Given the description of an element on the screen output the (x, y) to click on. 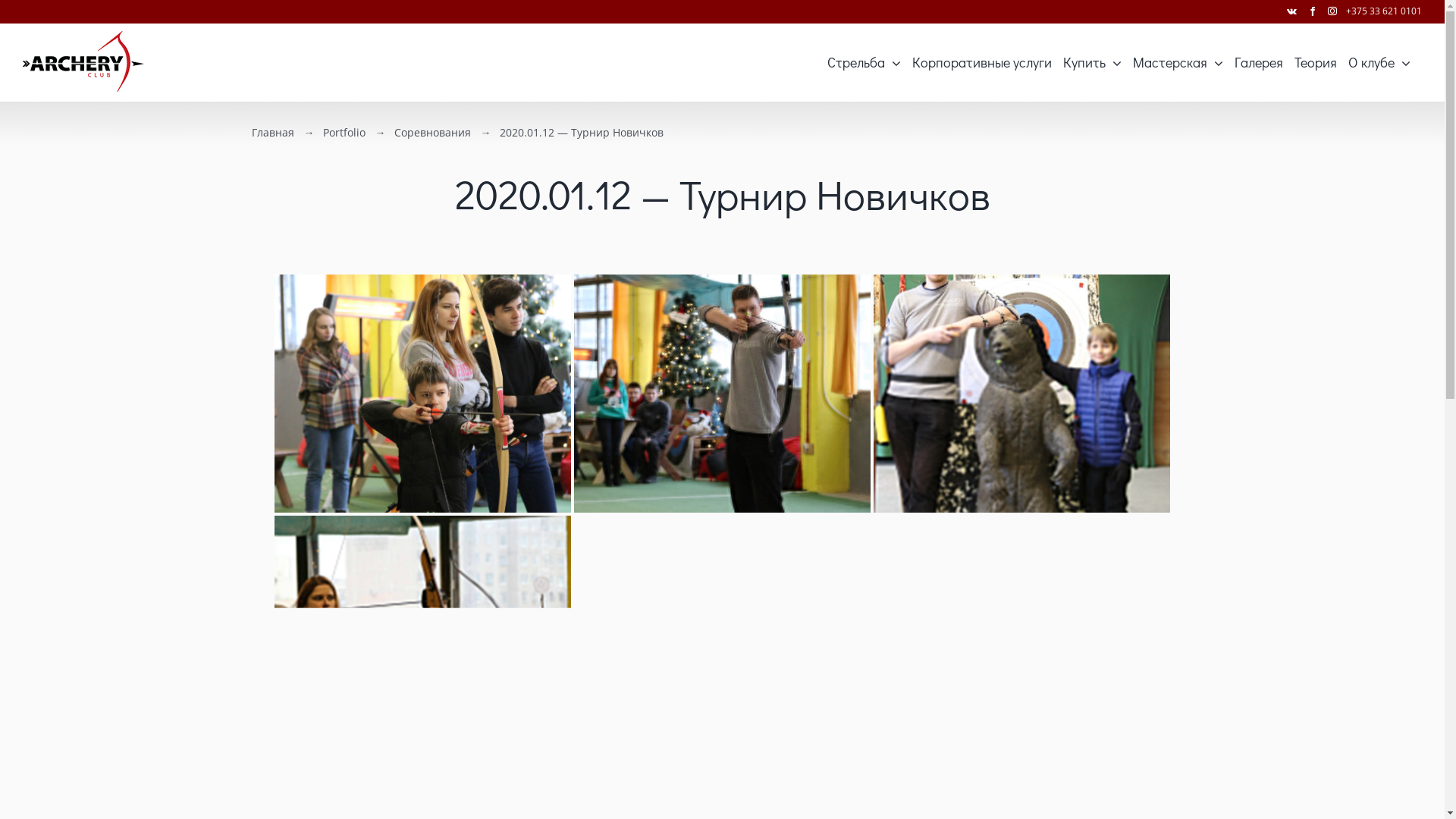
Portfolio Element type: text (344, 132)
+375 33 621 0101 Element type: text (1383, 10)
